Given the description of an element on the screen output the (x, y) to click on. 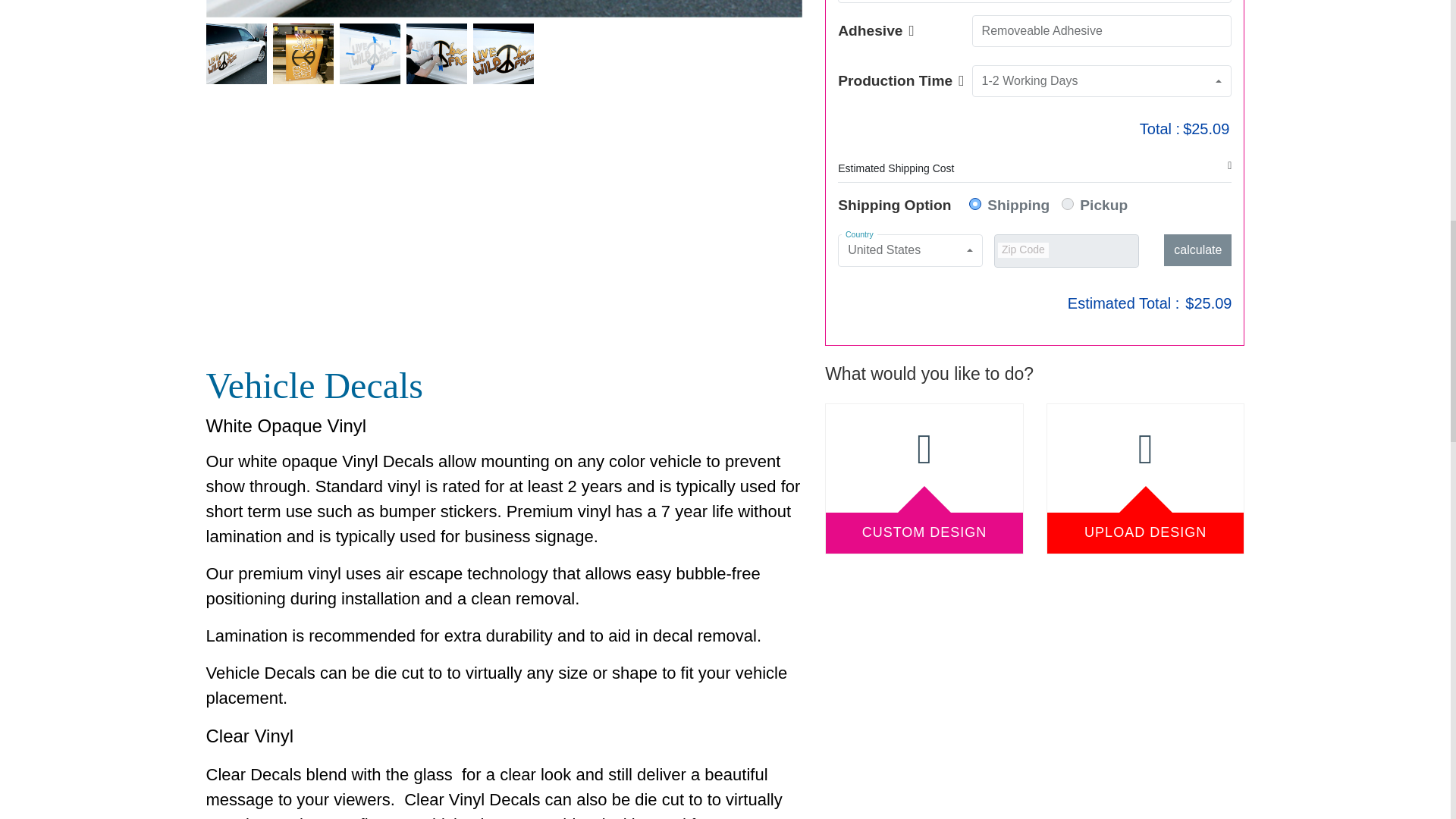
Car Decal Process 1 (303, 53)
Car Decal Process 3 (436, 53)
limo-decal-graphic (236, 53)
Car Decal Process 2 (369, 53)
limo-decal-graphic (504, 8)
Car Decal Process 4 (503, 53)
